Given the description of an element on the screen output the (x, y) to click on. 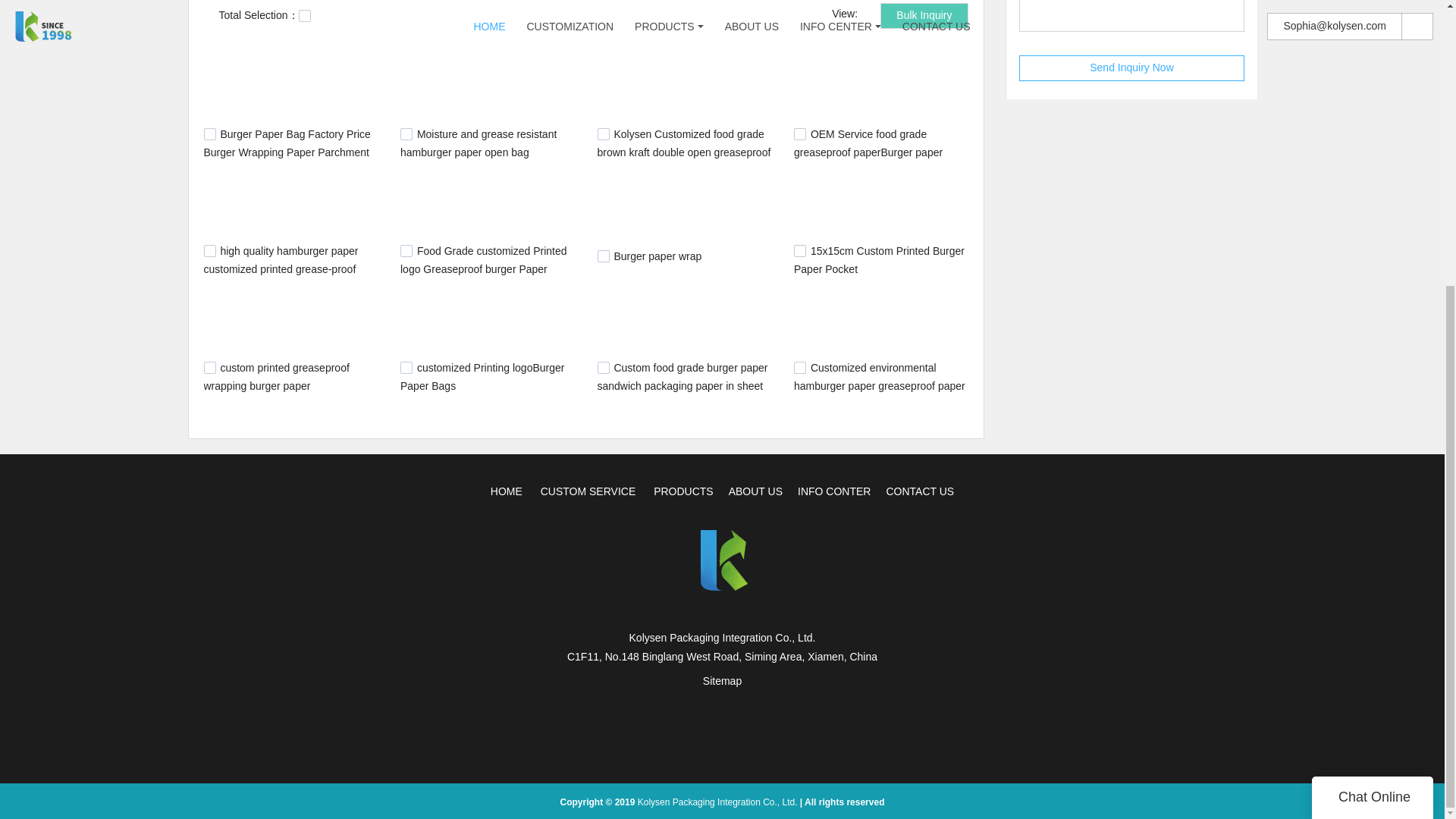
Food Grade customized Printed logo Greaseproof burger Paper (483, 259)
15x15cm Custom Printed Burger Paper Pocket (878, 259)
7651 (603, 367)
5244 (406, 133)
Customized environmental hamburger paper greaseproof paper (879, 376)
6298 (799, 250)
5844 (209, 250)
6149 (406, 250)
custom printed greaseproof wrapping burger paper (276, 376)
6176 (603, 256)
Moisture and grease resistant hamburger paper open bag (478, 142)
